Given the description of an element on the screen output the (x, y) to click on. 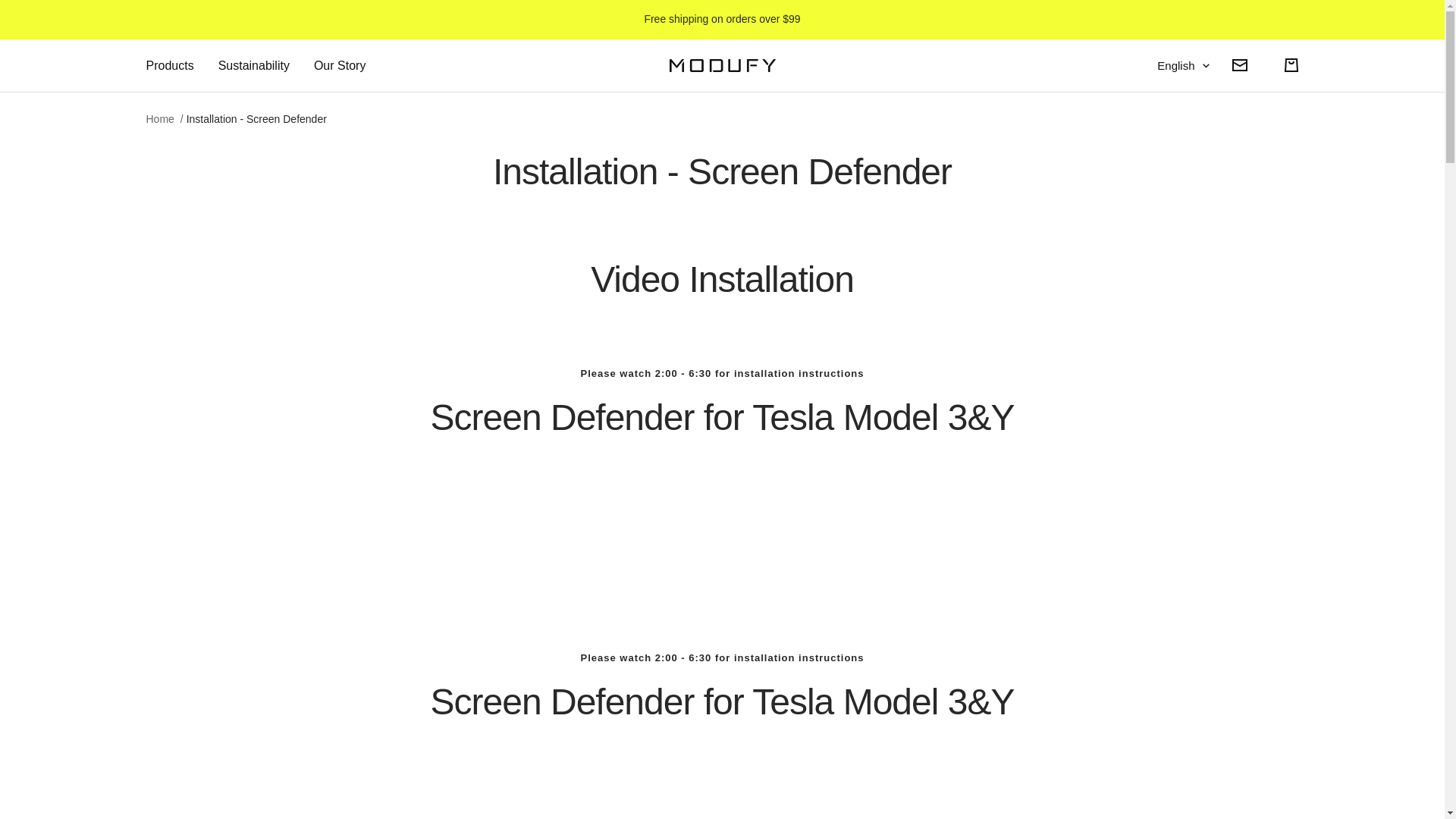
Newsletter (1238, 64)
ja (1172, 197)
th (1172, 145)
Our Story (339, 65)
Sustainability (253, 65)
MODUFY (721, 65)
ko (1172, 171)
Products (169, 65)
English (1182, 66)
zh-TW (1172, 224)
